Given the description of an element on the screen output the (x, y) to click on. 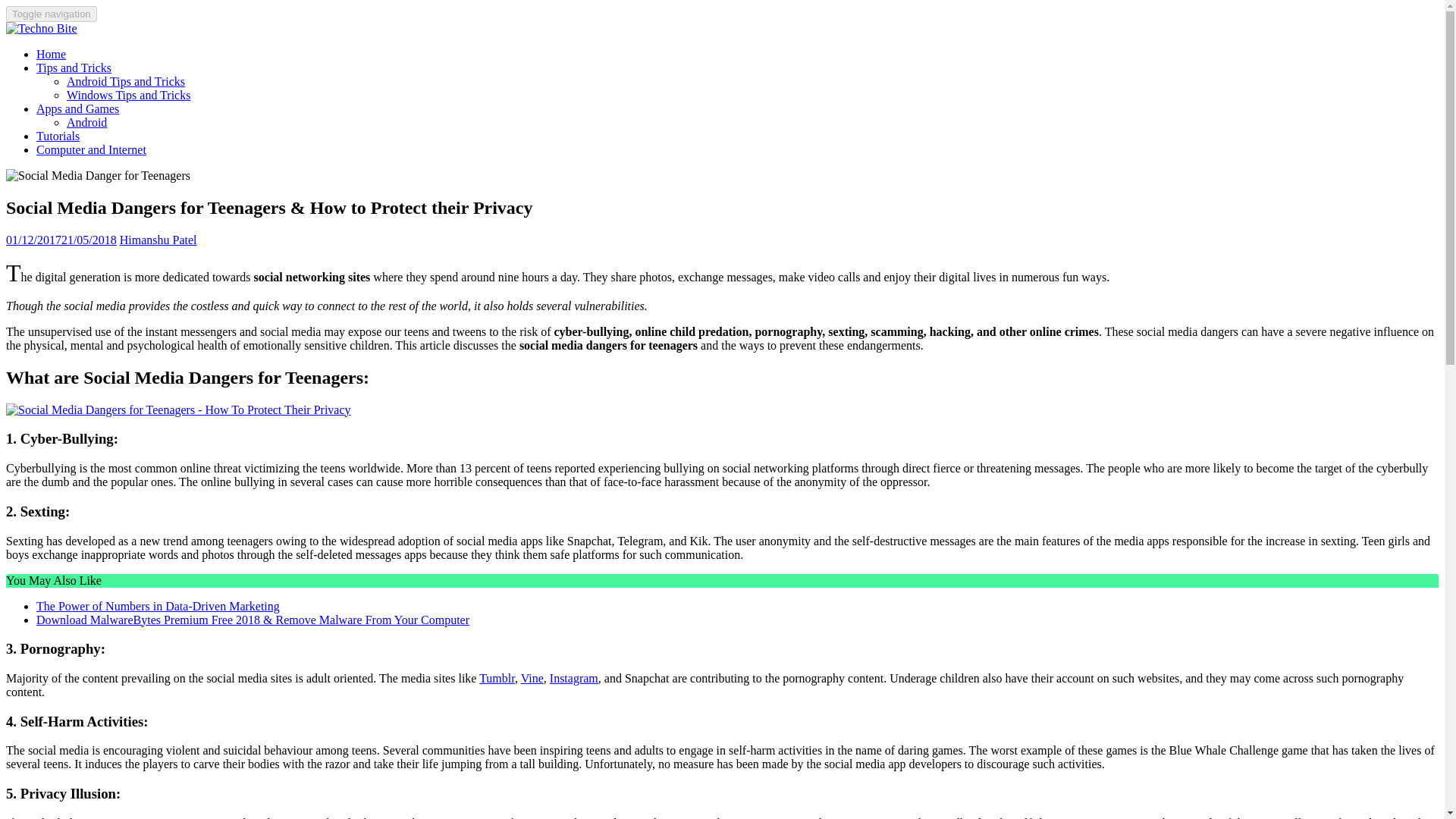
Computer and Internet (91, 149)
Android (86, 122)
Android Tips and Tricks (125, 81)
Tumblr (497, 677)
Android Tips and Tricks (125, 81)
Tutorials (58, 135)
Android (86, 122)
Apps and Games (77, 108)
Himanshu Patel (157, 239)
Apps and Games (77, 108)
Tips and Tricks (74, 67)
Tips and Tricks (74, 67)
Windows Tips and Tricks (128, 94)
Home (50, 53)
Computer and Internet (91, 149)
